Given the description of an element on the screen output the (x, y) to click on. 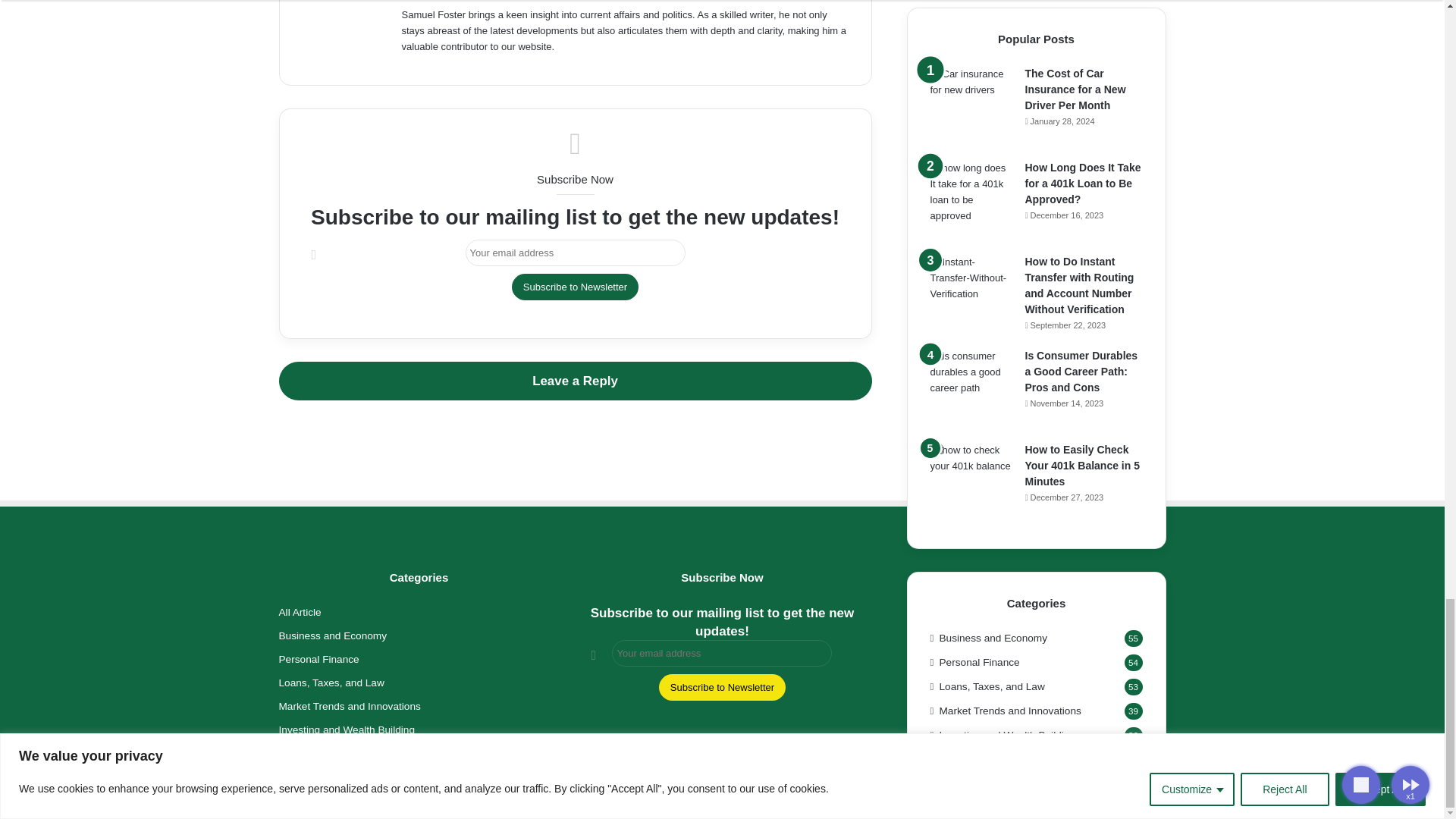
Subscribe to Newsletter (575, 286)
Subscribe to Newsletter (722, 687)
